Given the description of an element on the screen output the (x, y) to click on. 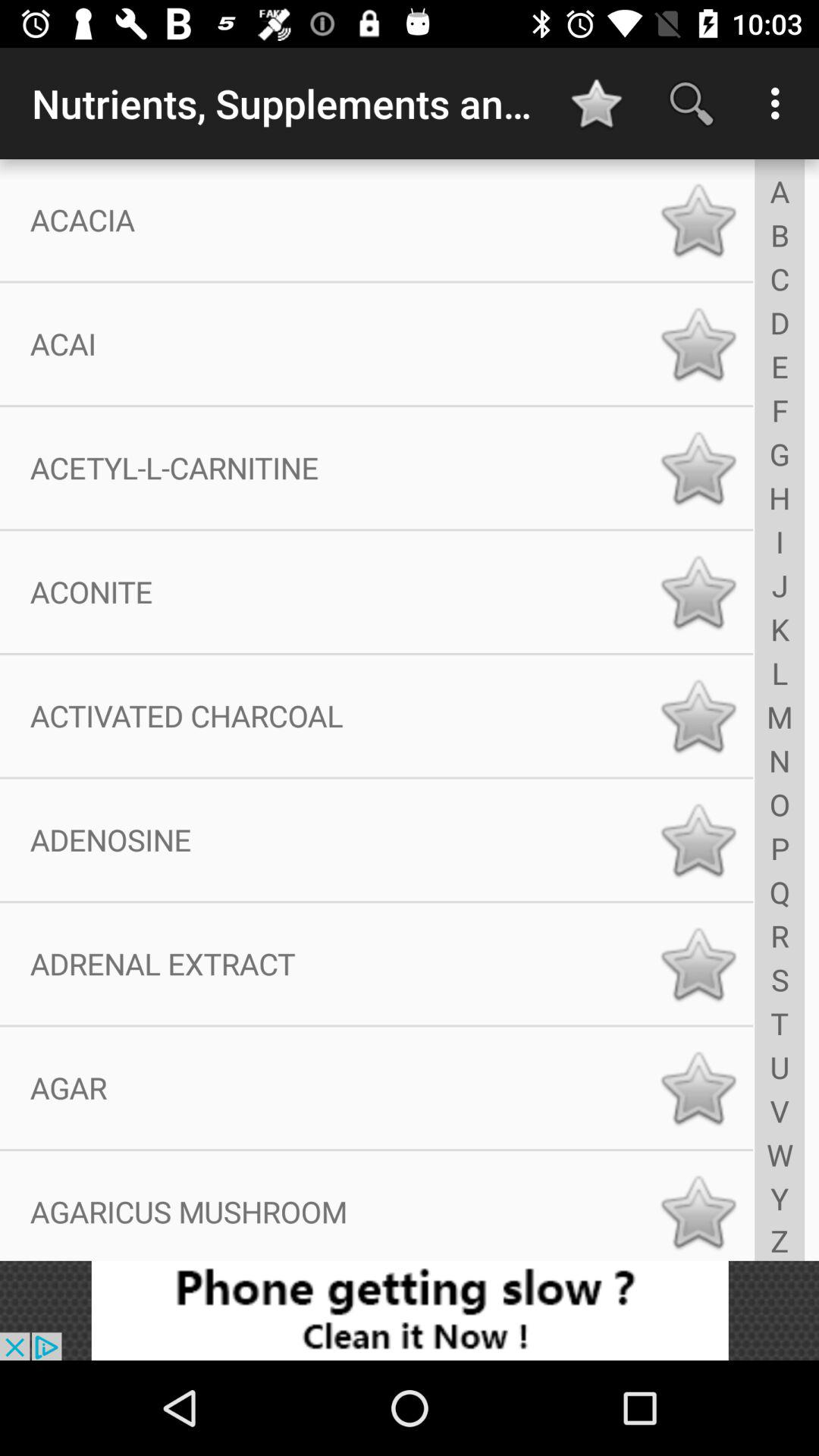
highlight button (697, 1087)
